Given the description of an element on the screen output the (x, y) to click on. 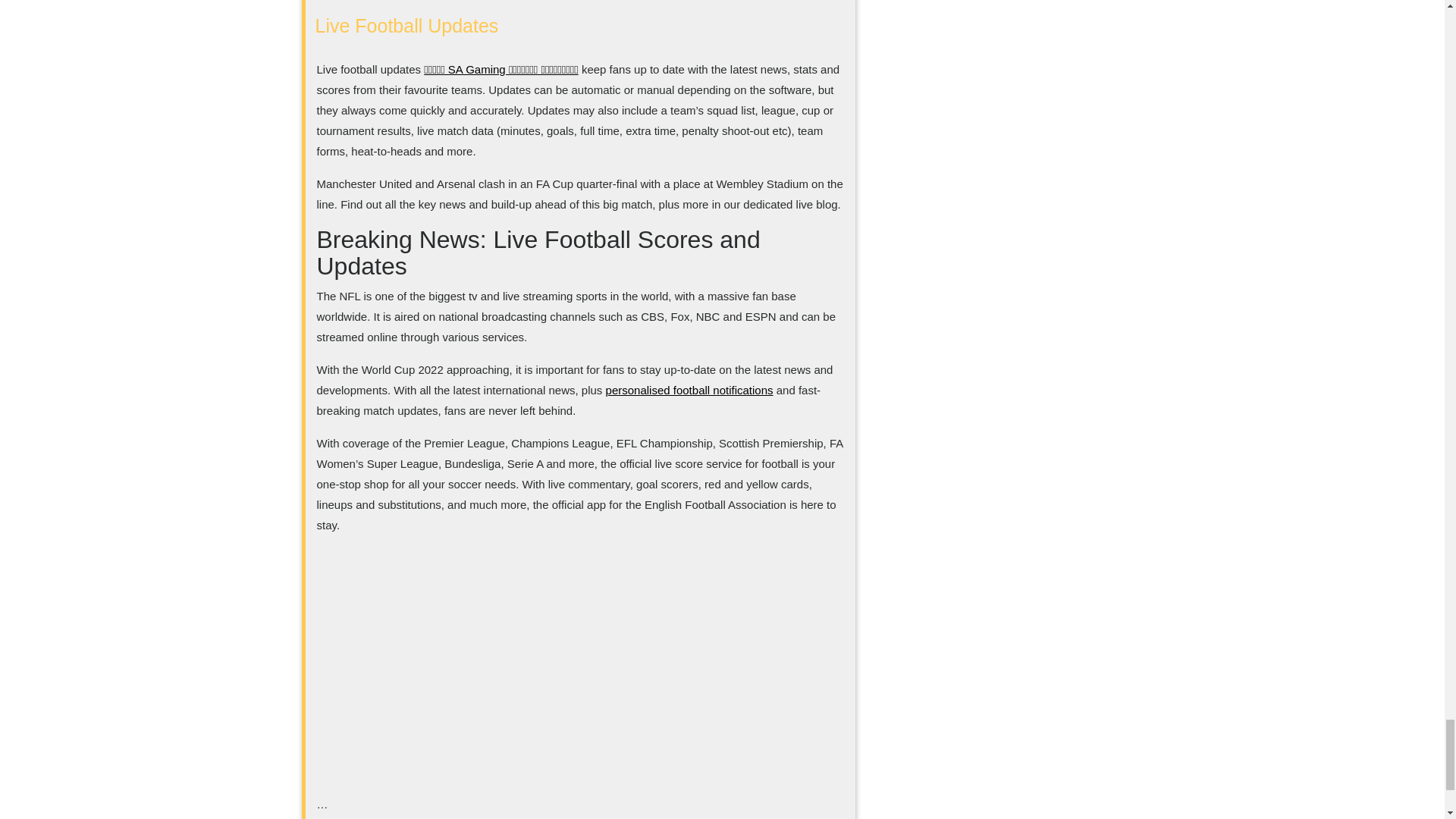
personalised football notifications (689, 390)
Live Football Updates (407, 25)
